Given the description of an element on the screen output the (x, y) to click on. 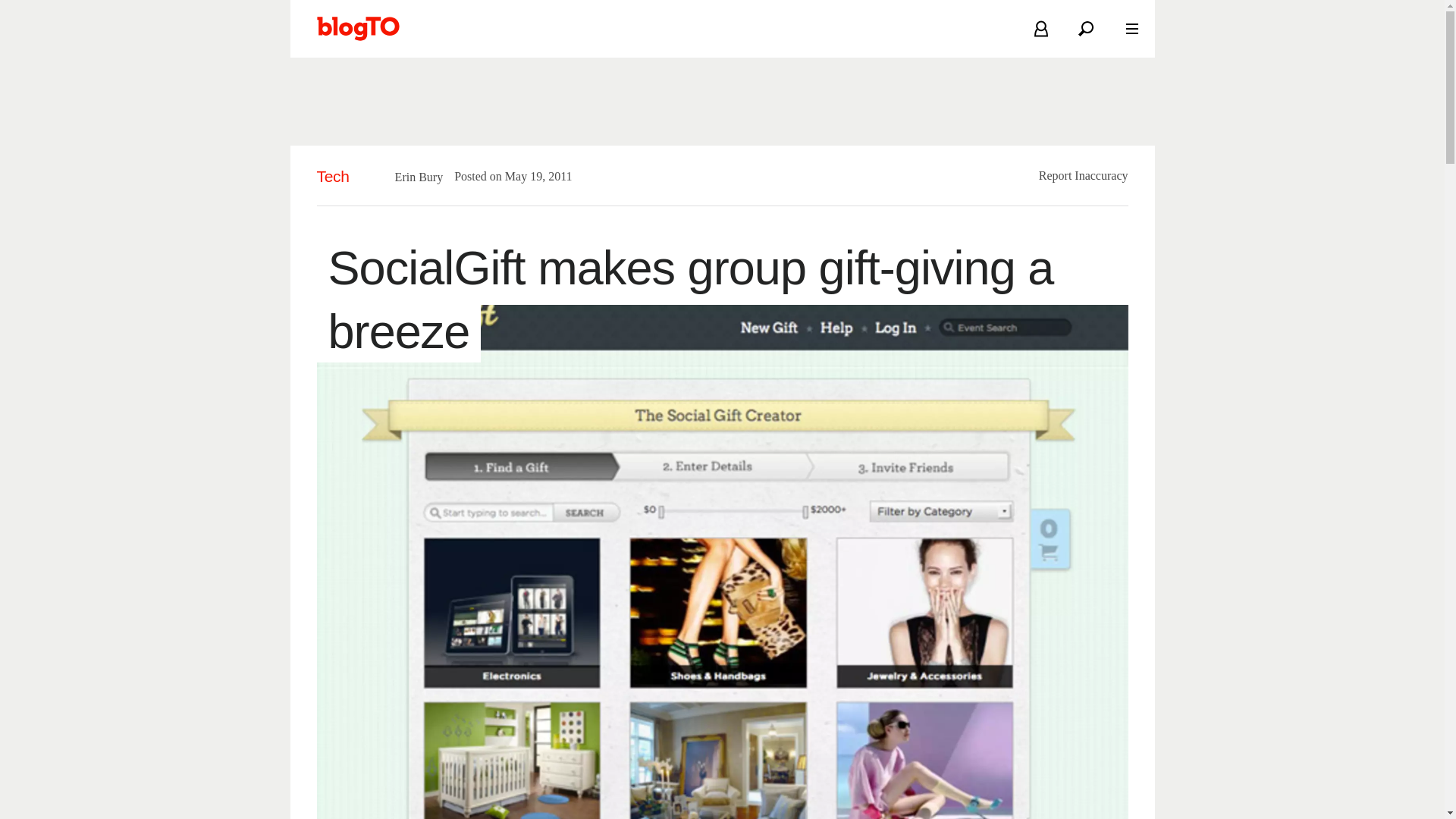
2011-05-19T09:30:00 (530, 175)
